Given the description of an element on the screen output the (x, y) to click on. 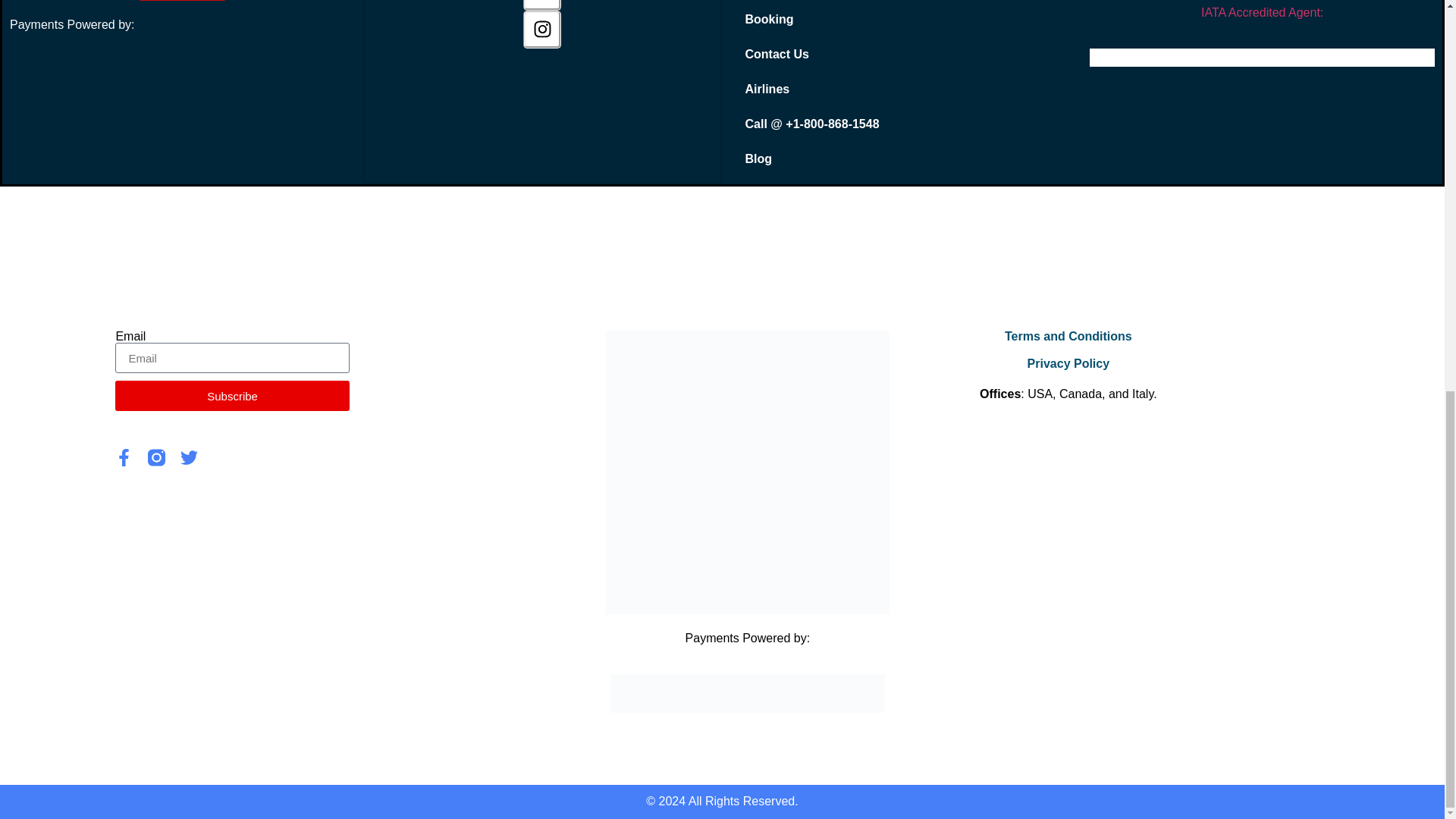
Blog (901, 158)
Airlines (901, 89)
Booking (901, 19)
Contact Us (901, 54)
